Given the description of an element on the screen output the (x, y) to click on. 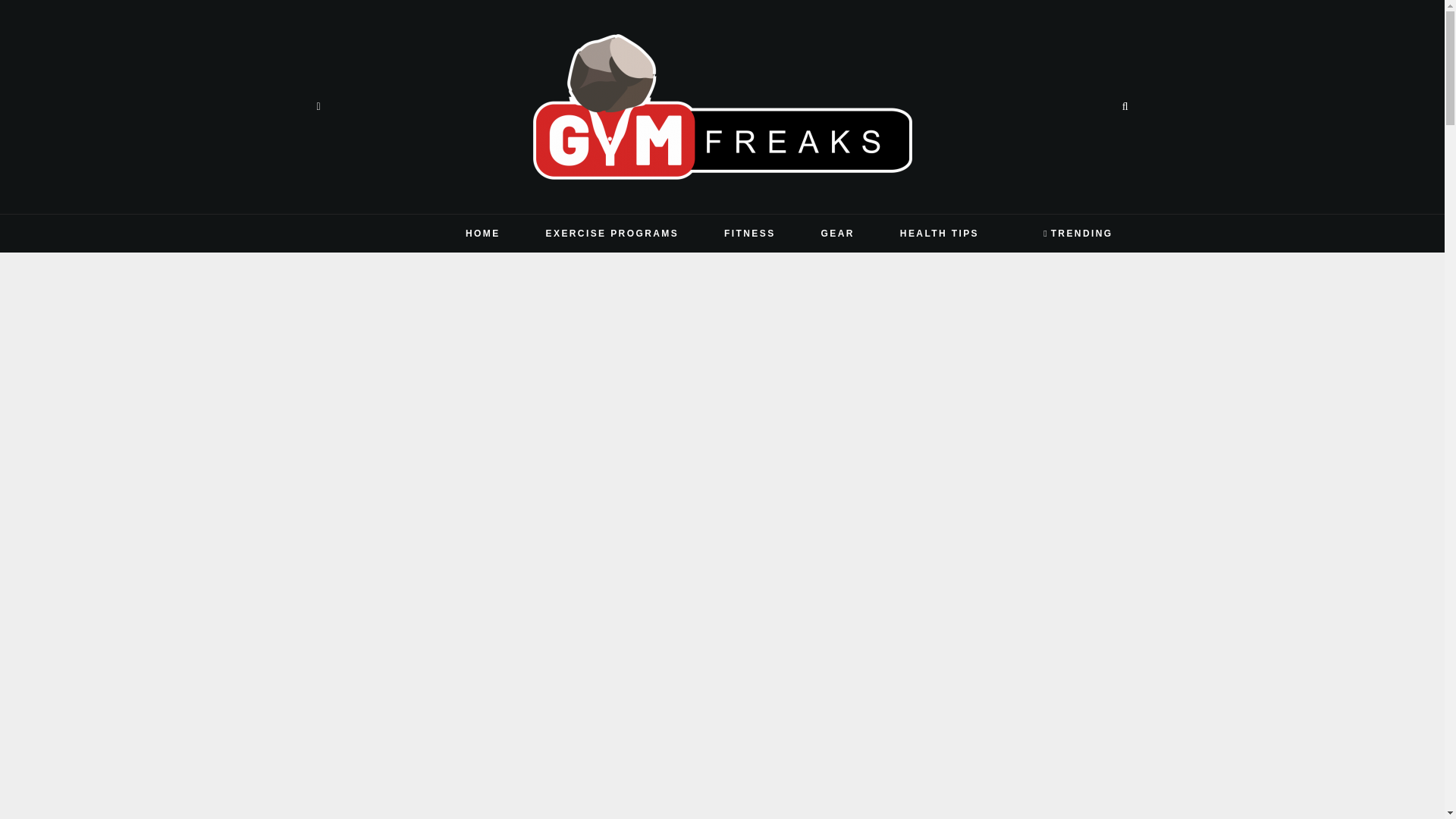
HEALTH TIPS (939, 233)
EXERCISE PROGRAMS (611, 233)
GEAR (837, 233)
HOME (482, 233)
FITNESS (749, 233)
